Given the description of an element on the screen output the (x, y) to click on. 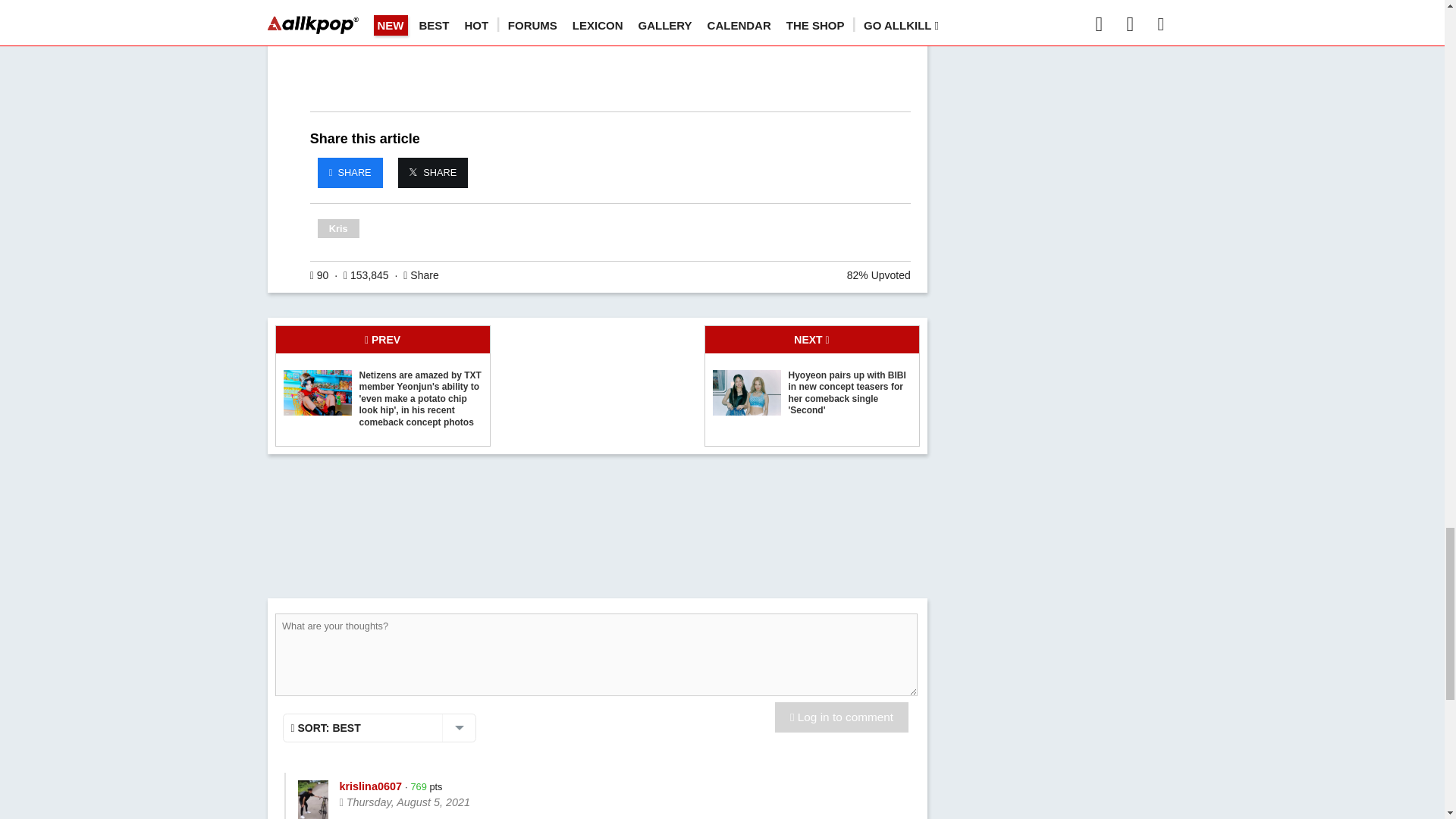
Hyoyeon (746, 392)
TXT, Yeonjun (317, 392)
Kris (338, 228)
